Given the description of an element on the screen output the (x, y) to click on. 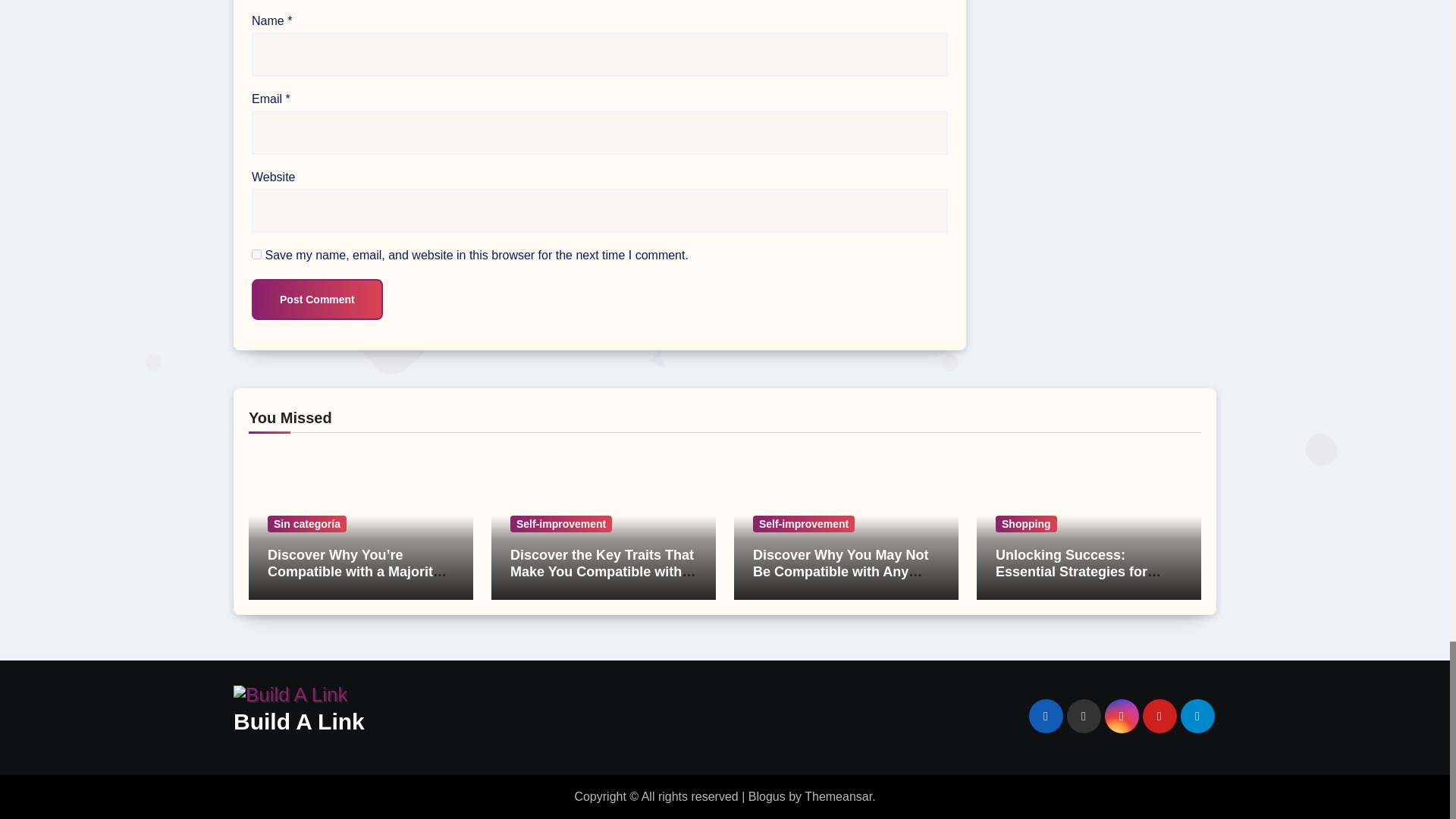
yes (256, 254)
Post Comment (316, 299)
